Given the description of an element on the screen output the (x, y) to click on. 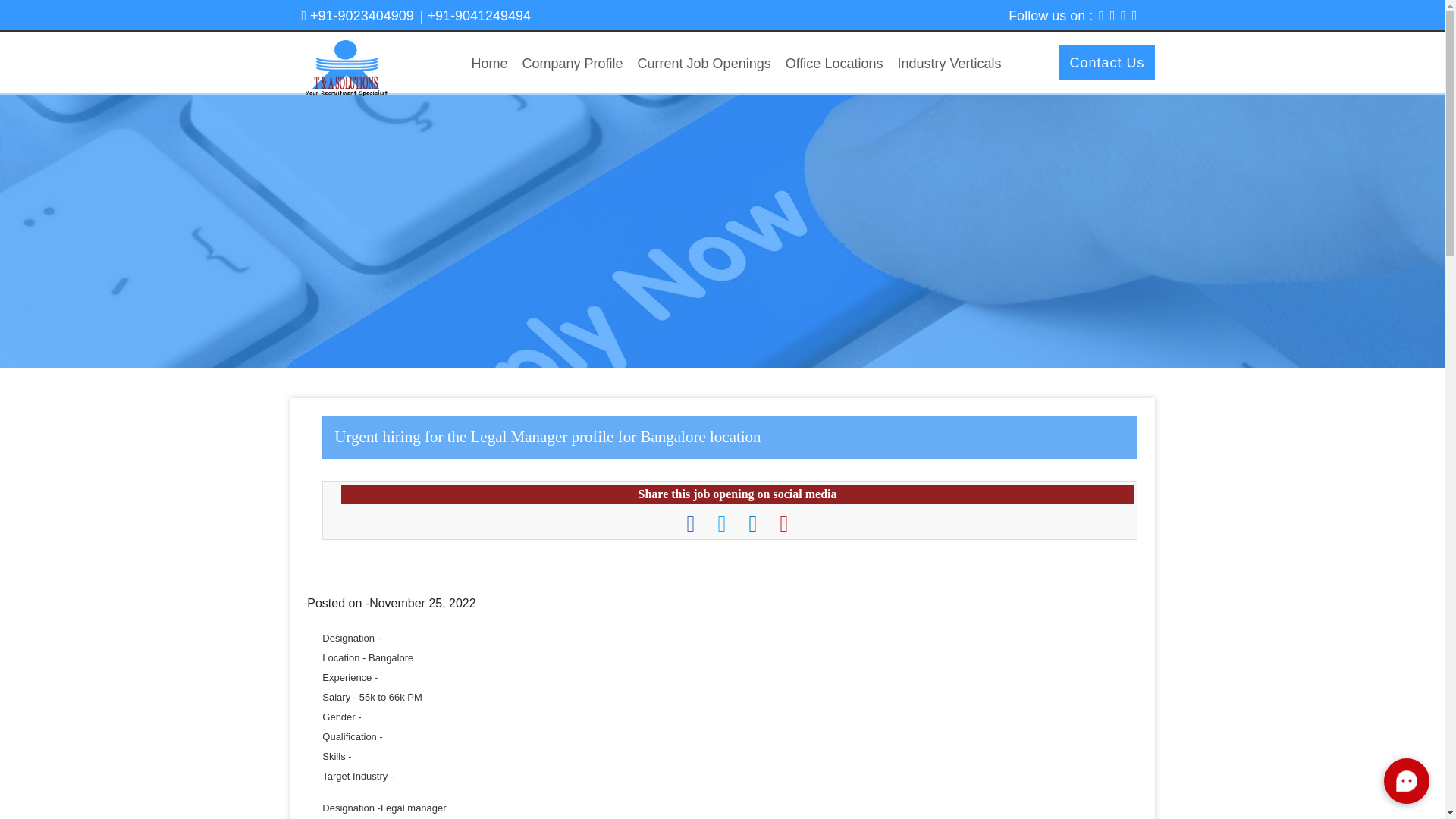
Contact Us (1106, 62)
Current Job Openings (704, 64)
Office Locations (833, 64)
Company Profile (572, 64)
Industry Verticals (949, 64)
Home (489, 64)
